Given the description of an element on the screen output the (x, y) to click on. 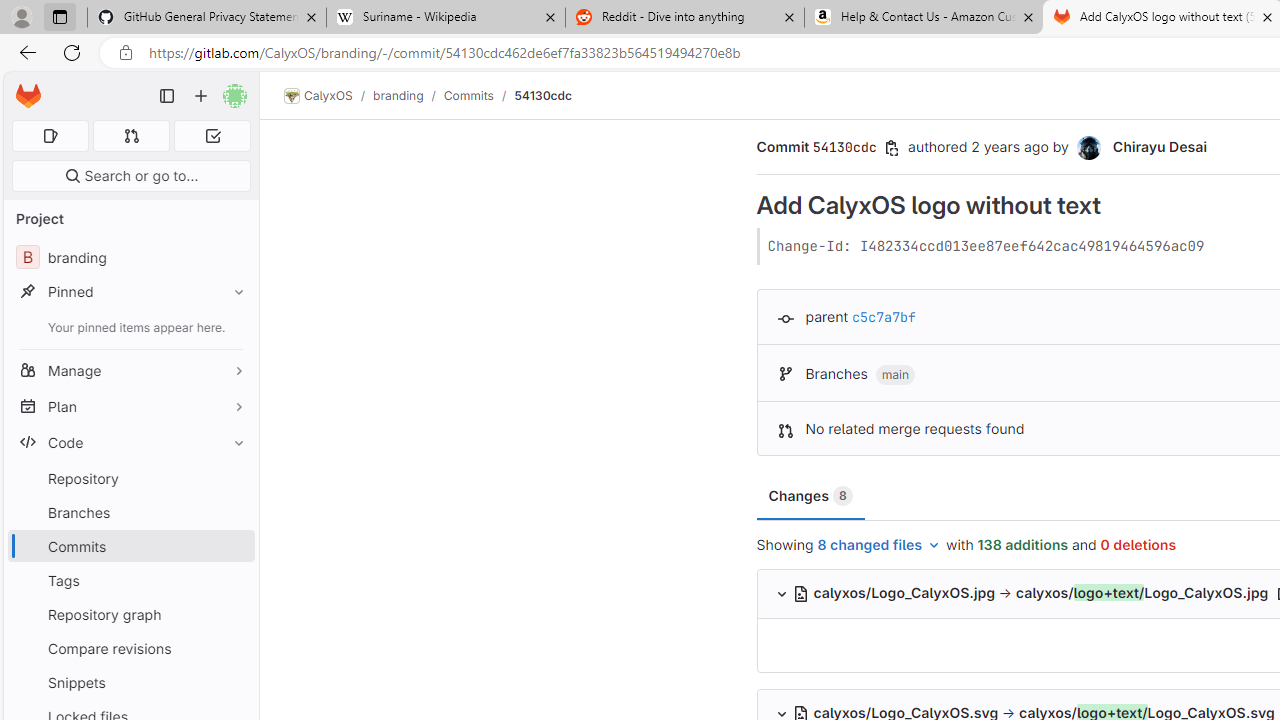
To-Do list 0 (212, 136)
main (895, 375)
54130cdc (543, 95)
CalyxOS (318, 96)
Repository (130, 478)
Code (130, 442)
Repository graph (130, 614)
Tags (130, 579)
Chirayu Desai (1159, 146)
Class: s16 gl-icon gl-button-icon  (892, 147)
Copy commit SHA (892, 148)
Repository graph (130, 614)
